Given the description of an element on the screen output the (x, y) to click on. 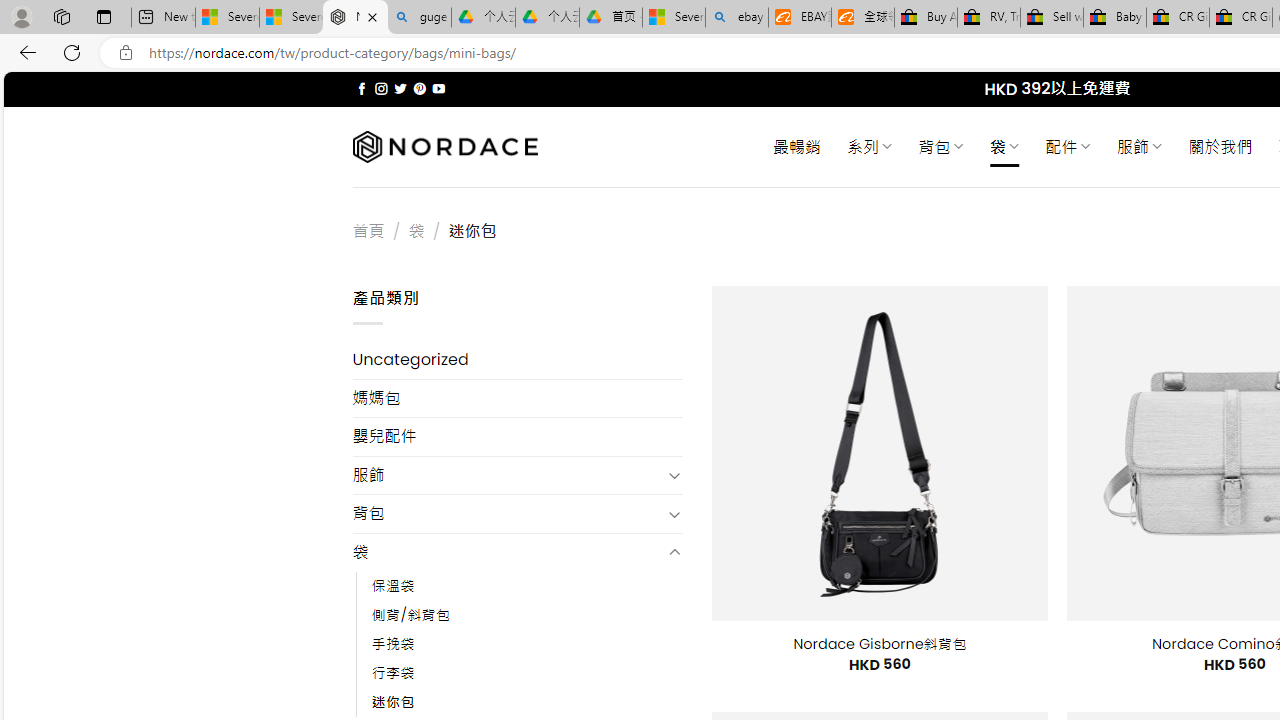
Back (24, 52)
ebay - Search (736, 17)
